Given the description of an element on the screen output the (x, y) to click on. 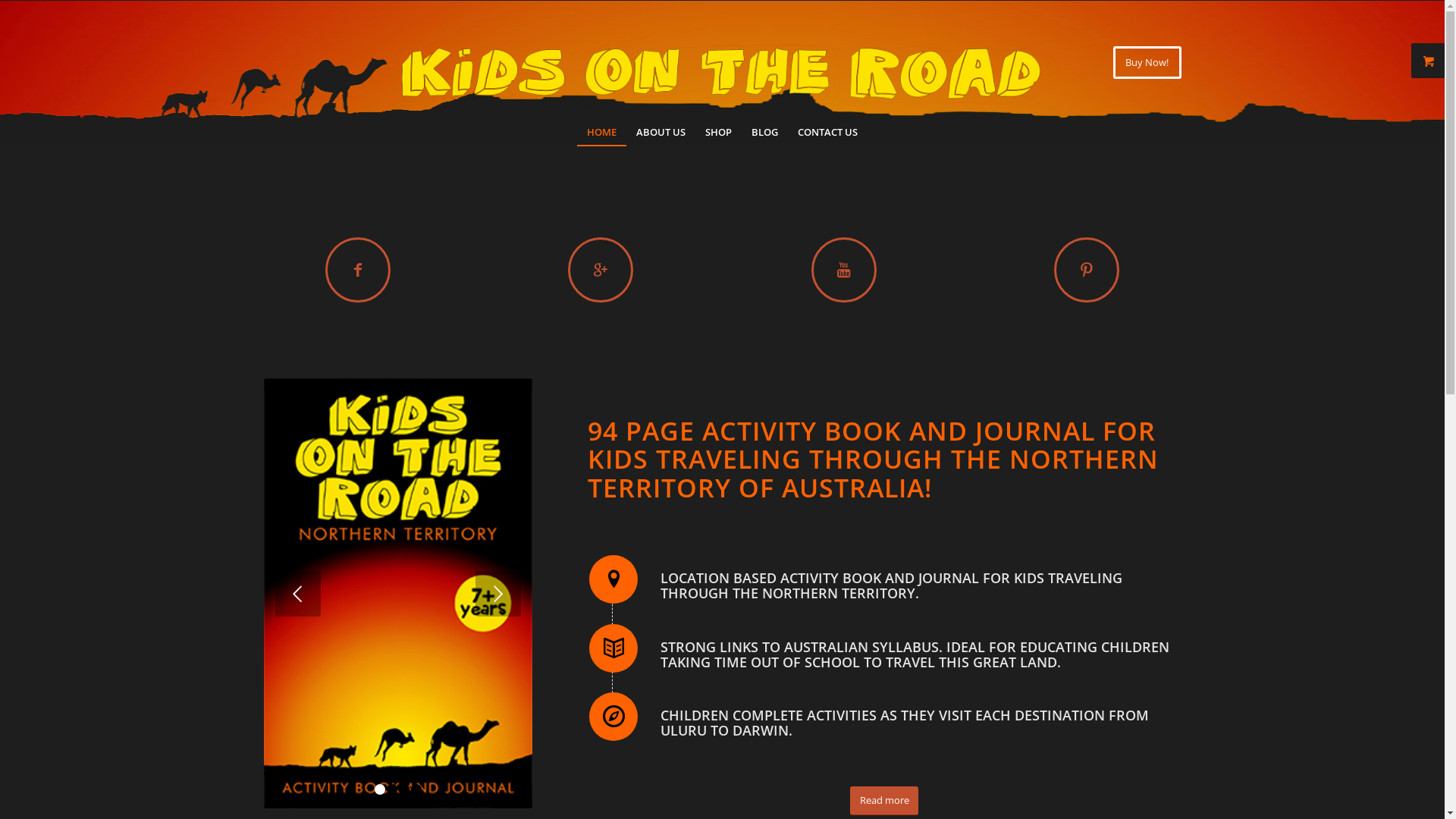
SHOP Element type: text (718, 132)
Next Element type: text (497, 593)
HOME Element type: text (601, 132)
1 Element type: text (379, 789)
Read more Element type: text (884, 800)
2 Element type: text (391, 789)
ABOUT US Element type: text (660, 132)
3 Element type: text (403, 789)
Buy Now! Element type: text (1147, 62)
4 Element type: text (416, 789)
CONTACT US Element type: text (827, 132)
BLOG Element type: text (764, 132)
Previous Element type: text (297, 593)
sample-page0 Element type: hover (398, 593)
